Given the description of an element on the screen output the (x, y) to click on. 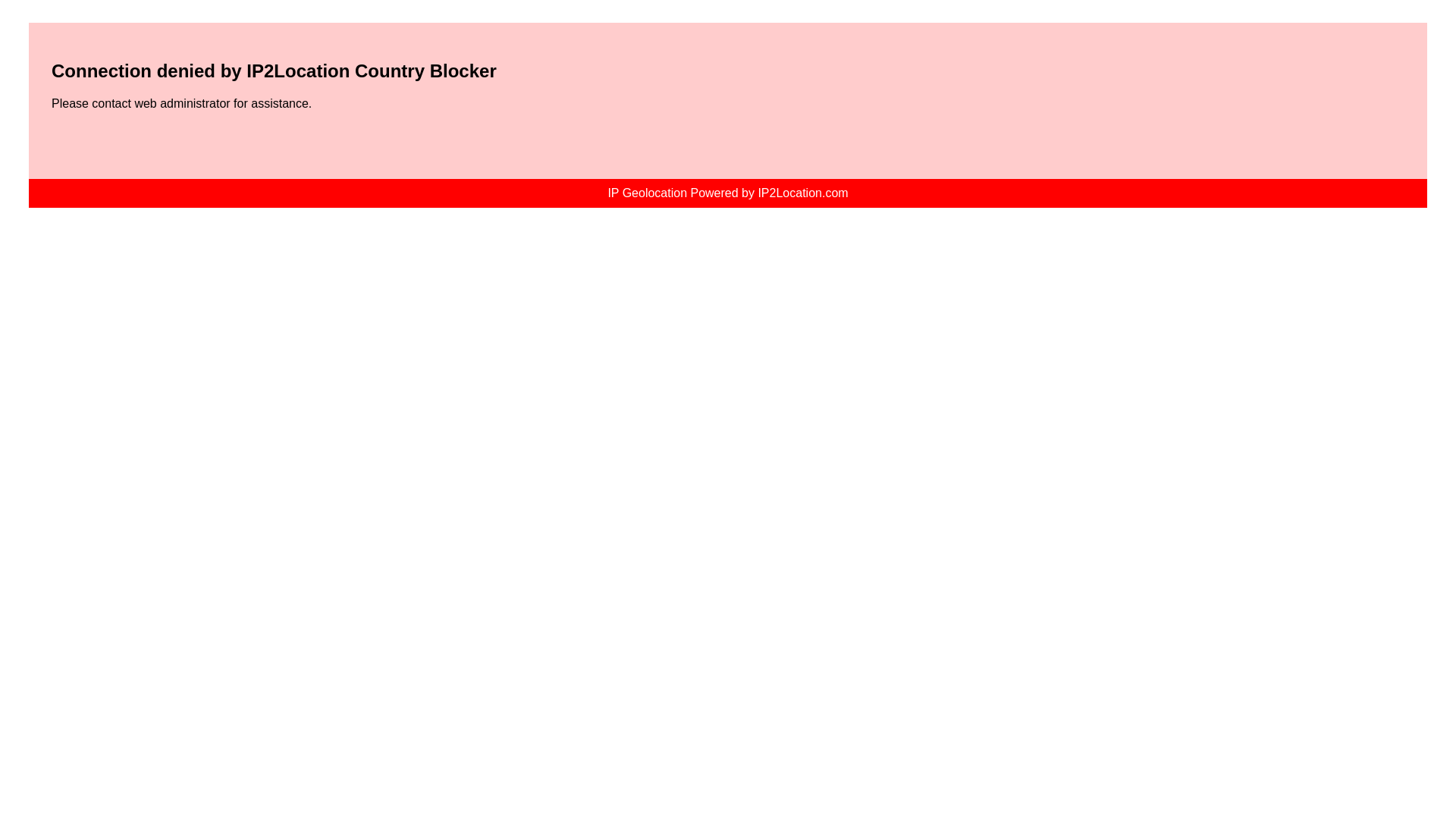
IP Geolocation Powered by IP2Location.com (727, 192)
